Given the description of an element on the screen output the (x, y) to click on. 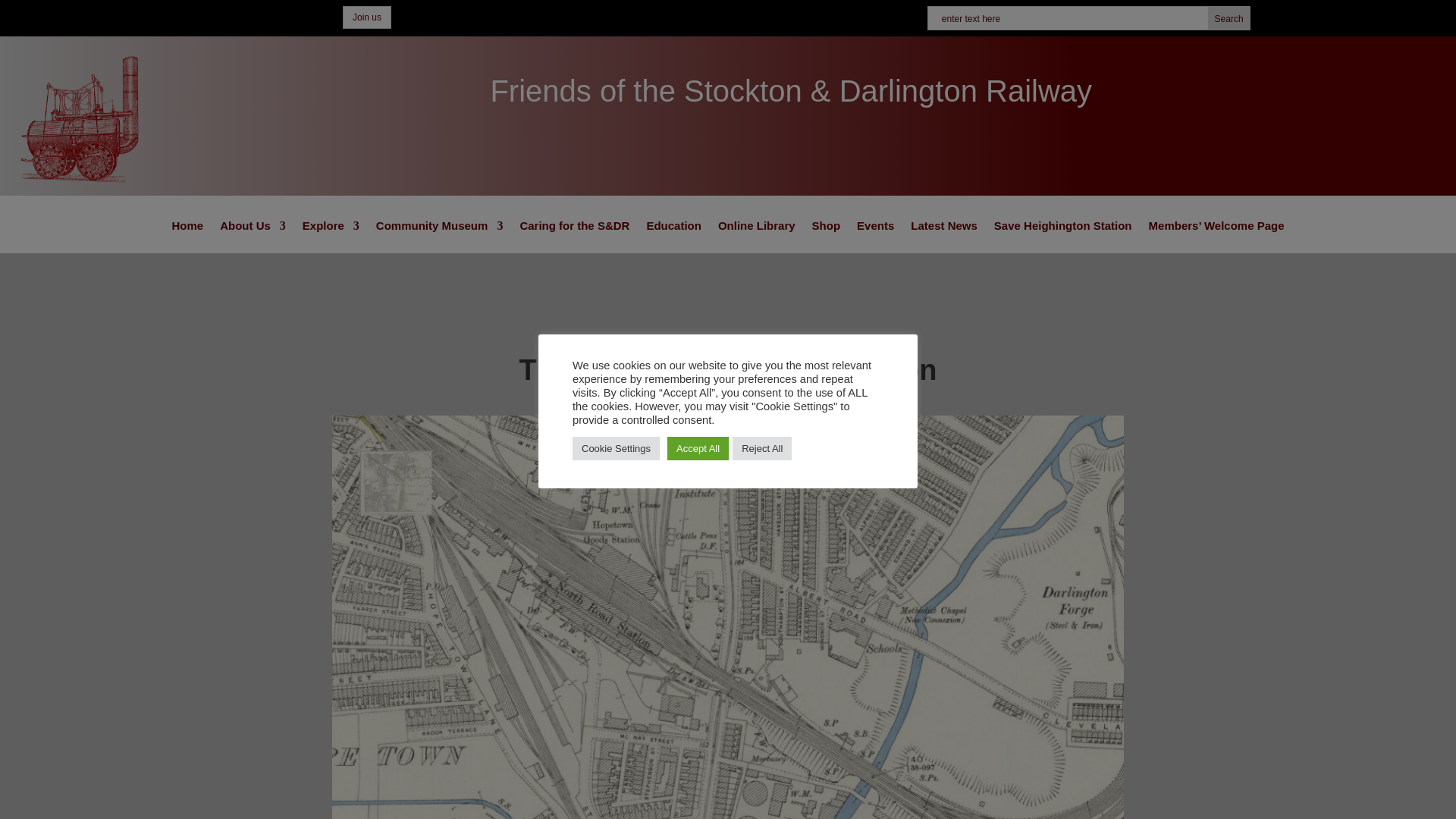
Community Museum (439, 236)
Latest News (943, 236)
Events (875, 236)
Home (187, 236)
Education (673, 236)
Search (1228, 18)
Search (1228, 18)
Online Library (755, 236)
Join us (366, 16)
Save Heighington Station (1063, 236)
Explore (330, 236)
About Us (252, 236)
Search (1228, 18)
